Given the description of an element on the screen output the (x, y) to click on. 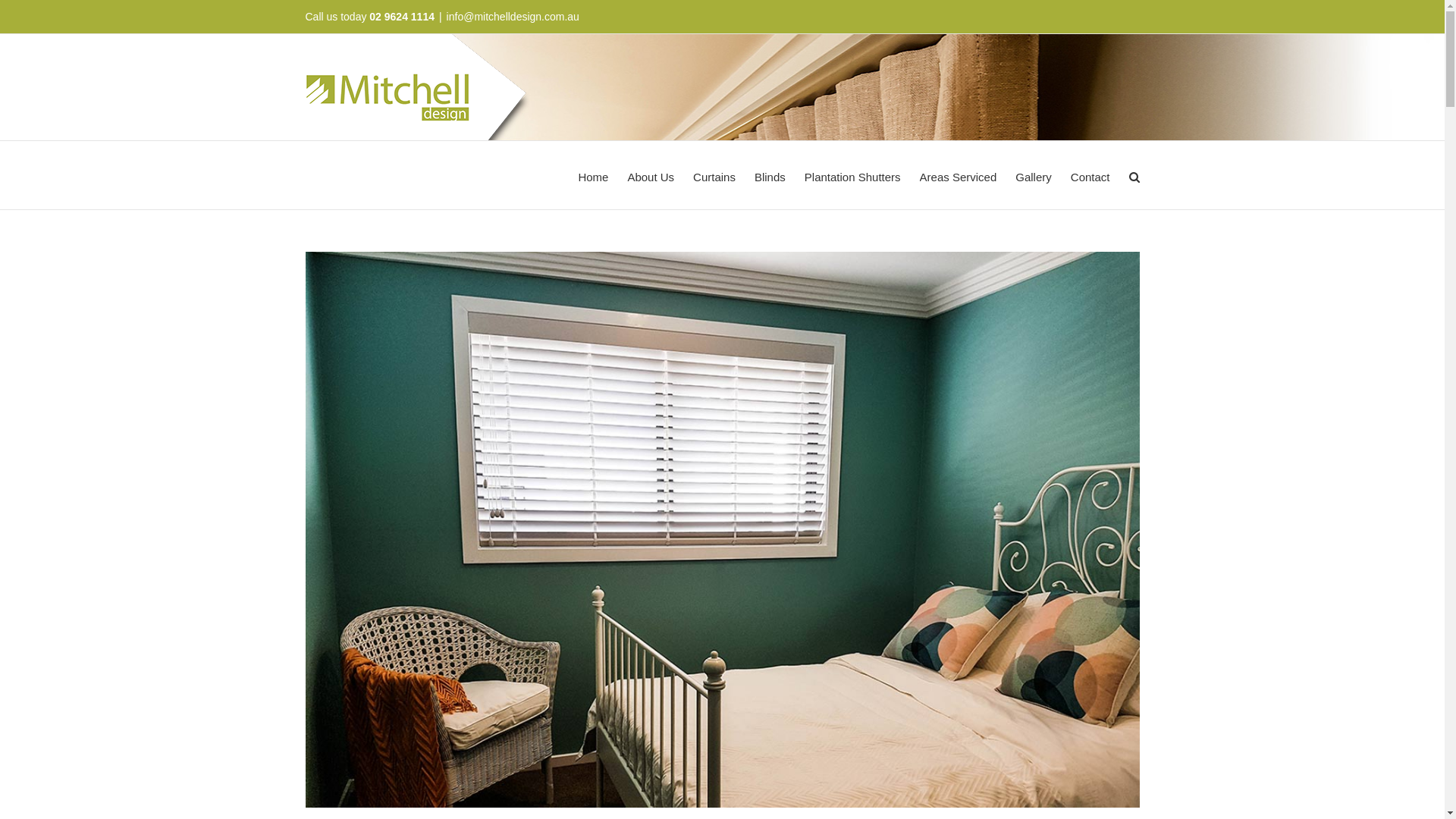
Search Element type: hover (1133, 175)
02 9624 1114 Element type: text (401, 16)
Contact Element type: text (1090, 175)
Areas Serviced Element type: text (958, 175)
info@mitchelldesign.com.au Element type: text (512, 16)
Curtains Element type: text (714, 175)
Plantation Shutters Element type: text (852, 175)
Home Element type: text (592, 175)
Gallery Element type: text (1033, 175)
About Us Element type: text (650, 175)
Blinds Element type: text (769, 175)
